Given the description of an element on the screen output the (x, y) to click on. 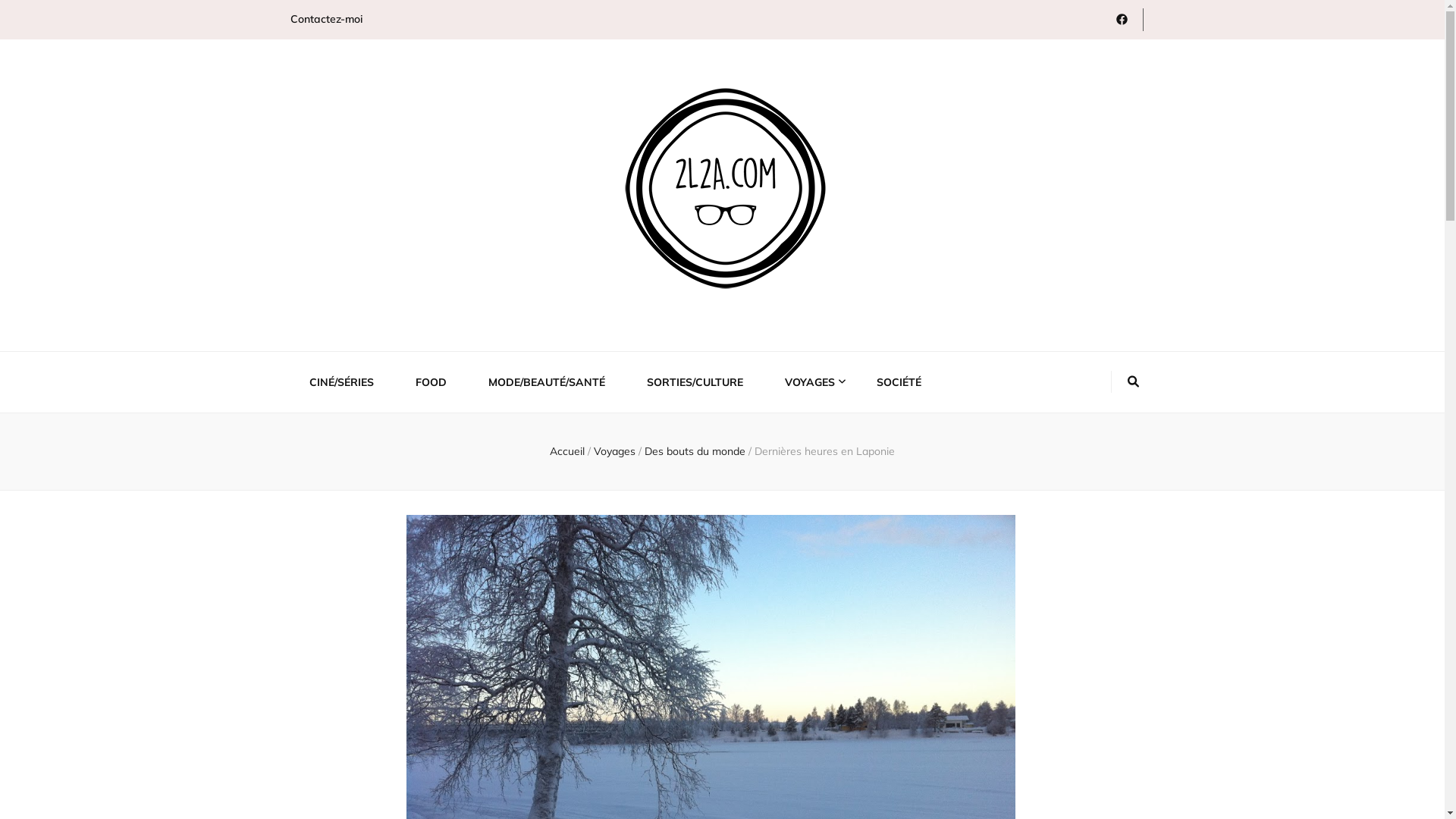
VOYAGES Element type: text (809, 382)
Voyages Element type: text (615, 451)
2L2A Element type: text (342, 332)
SORTIES/CULTURE Element type: text (694, 382)
FOOD Element type: text (430, 382)
Accueil Element type: text (566, 451)
Contactez-moi Element type: text (325, 19)
Des bouts du monde Element type: text (696, 451)
